Given the description of an element on the screen output the (x, y) to click on. 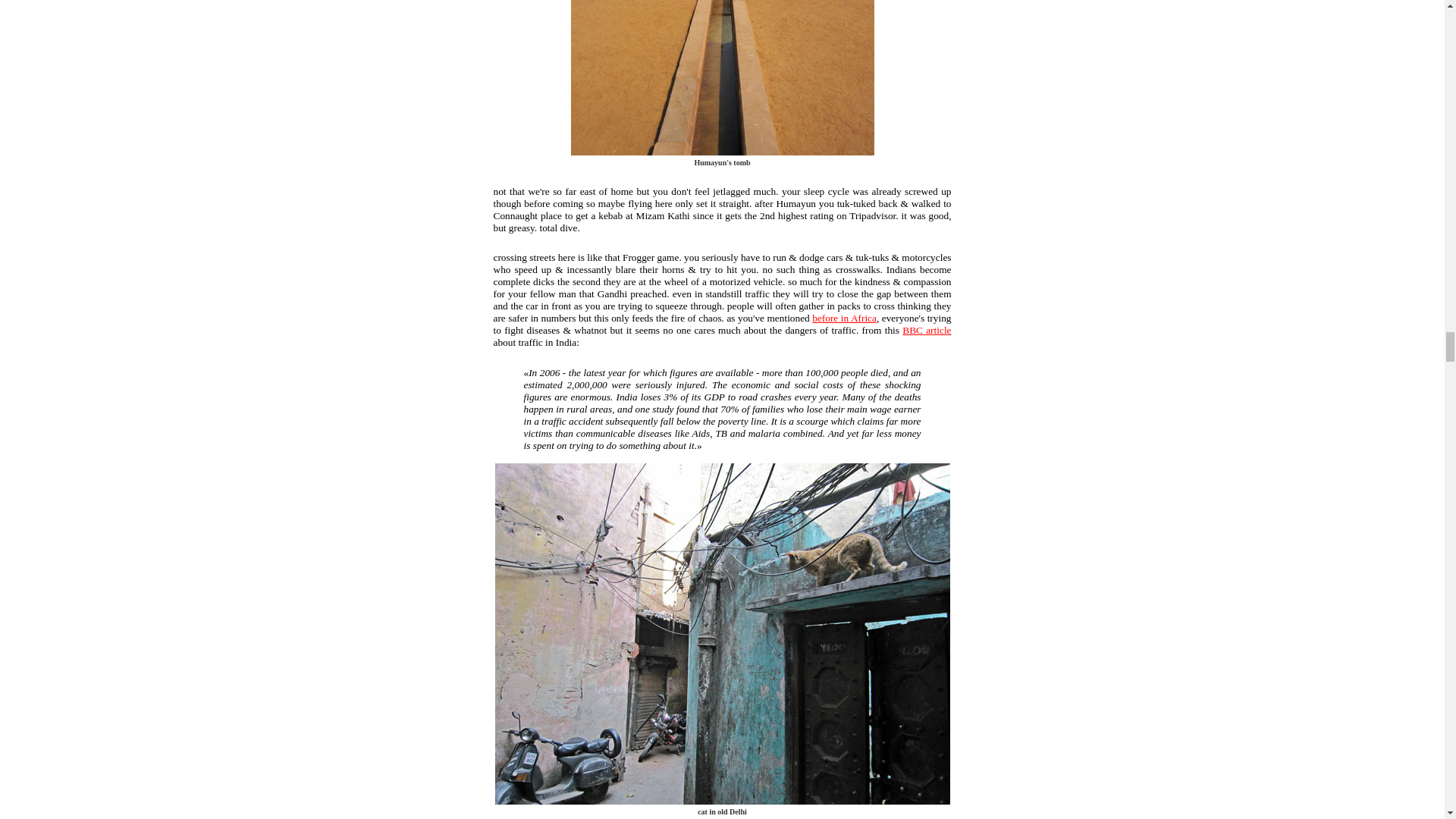
BBC article (926, 329)
before in Africa (844, 317)
